Given the description of an element on the screen output the (x, y) to click on. 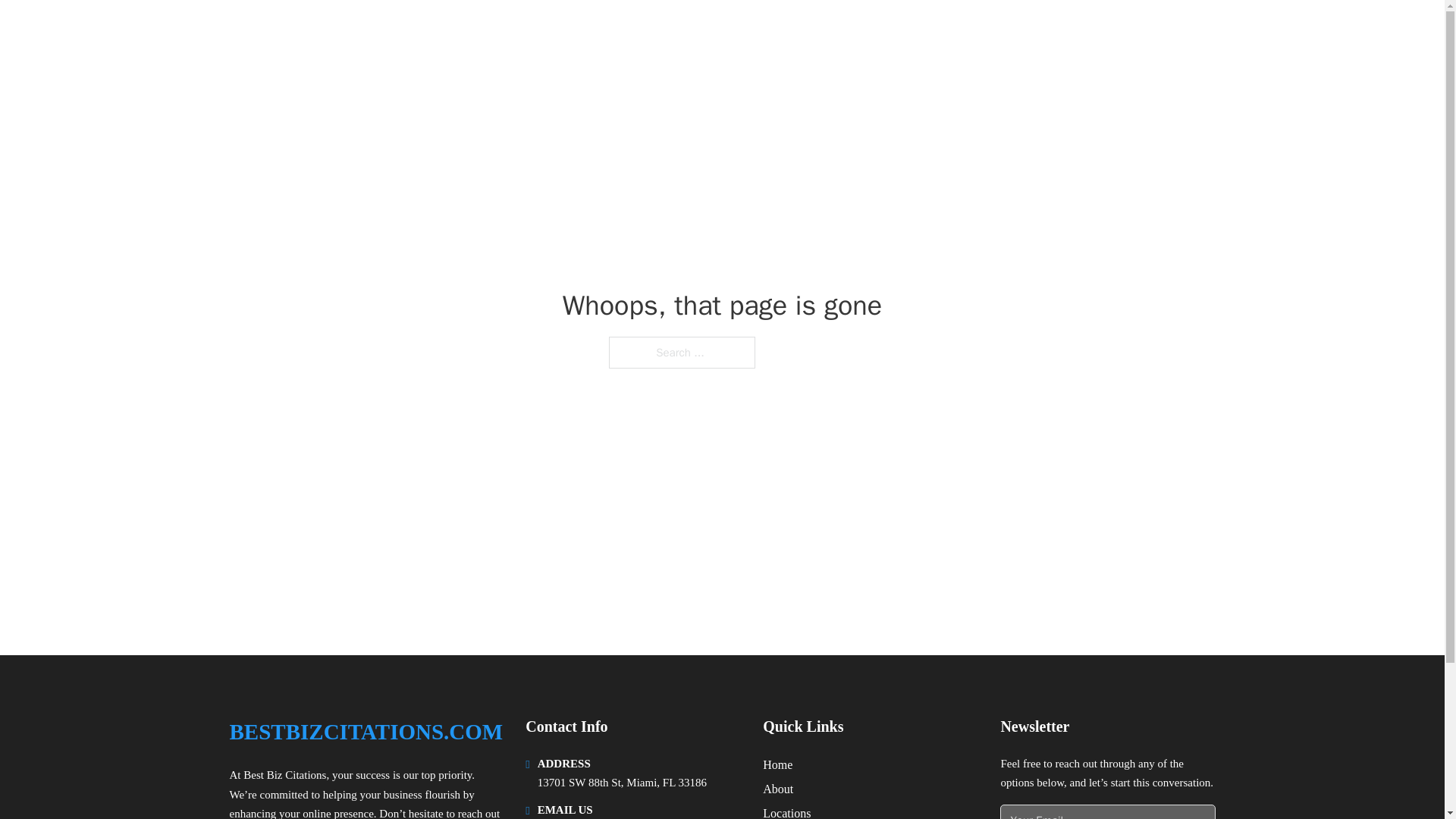
BESTBIZCITATIONS.COM (365, 732)
BESTBIZCITATIONS.COM (379, 31)
LOCATIONS (1098, 31)
HOME (1025, 31)
About (777, 788)
Home (777, 764)
Locations (786, 811)
